Given the description of an element on the screen output the (x, y) to click on. 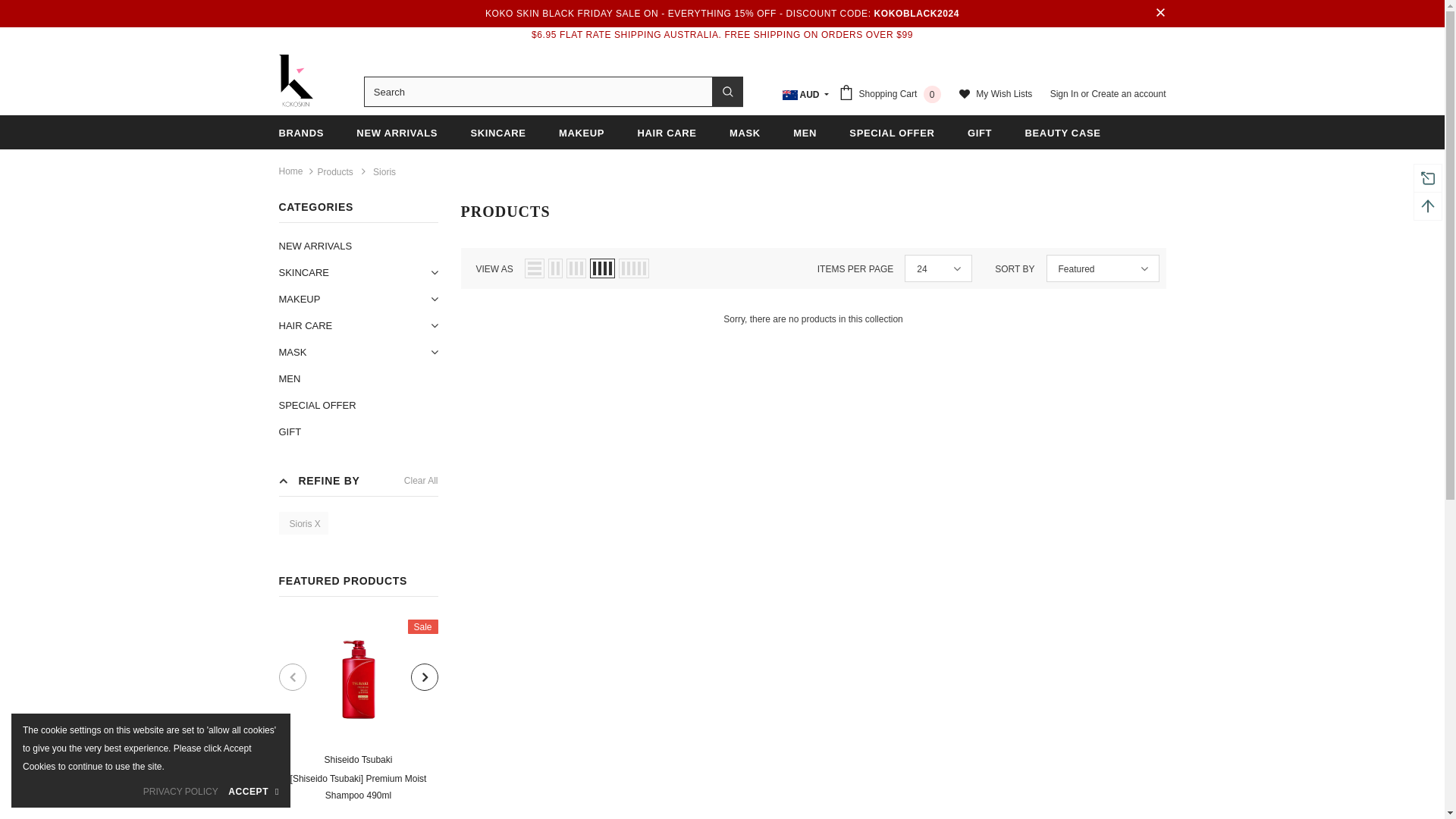
Home Element type: text (291, 171)
MEN Element type: text (290, 378)
GIFT Element type: text (290, 431)
SKINCARE Element type: text (304, 272)
MAKEUP Element type: text (299, 298)
SPECIAL OFFER Element type: text (891, 132)
BRANDS Element type: text (301, 132)
NEW ARRIVALS Element type: text (315, 245)
Shiseido Tsubaki Element type: text (358, 759)
MASK Element type: text (744, 132)
Clear All Element type: text (421, 480)
My Wish Lists Element type: text (995, 94)
Sign In Element type: text (1065, 92)
Create an account Element type: text (1128, 92)
SKINCARE Element type: text (497, 132)
Products Element type: text (335, 171)
BEAUTY CASE Element type: text (1062, 132)
Sioris X Element type: text (303, 522)
GIFT Element type: text (979, 132)
MEN Element type: text (804, 132)
close Element type: hover (1159, 13)
PRIVACY POLICY Element type: text (180, 791)
SPECIAL OFFER Element type: text (317, 405)
Logo Element type: hover (296, 80)
HAIR CARE Element type: text (666, 132)
Shopping Cart 0 Element type: text (892, 94)
NEW ARRIVALS Element type: text (396, 132)
MAKEUP Element type: text (581, 132)
HAIR CARE Element type: text (305, 325)
MASK Element type: text (293, 351)
